Given the description of an element on the screen output the (x, y) to click on. 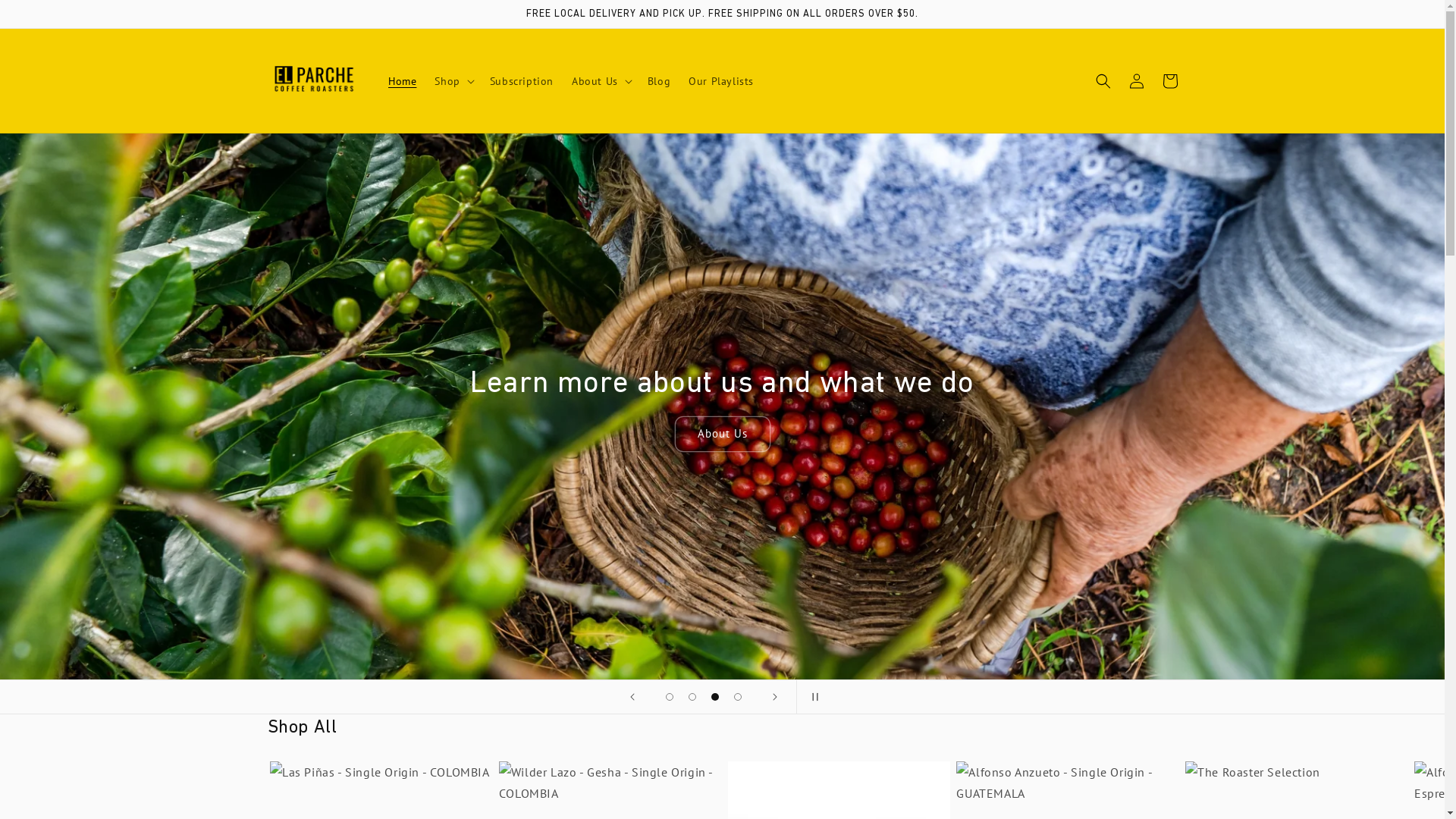
Our Playlists Element type: text (720, 81)
Blog Element type: text (658, 81)
Subscription Element type: text (521, 81)
SHOP Element type: text (721, 433)
Home Element type: text (402, 81)
Log in Element type: text (1135, 80)
Cart Element type: text (1169, 80)
